Given the description of an element on the screen output the (x, y) to click on. 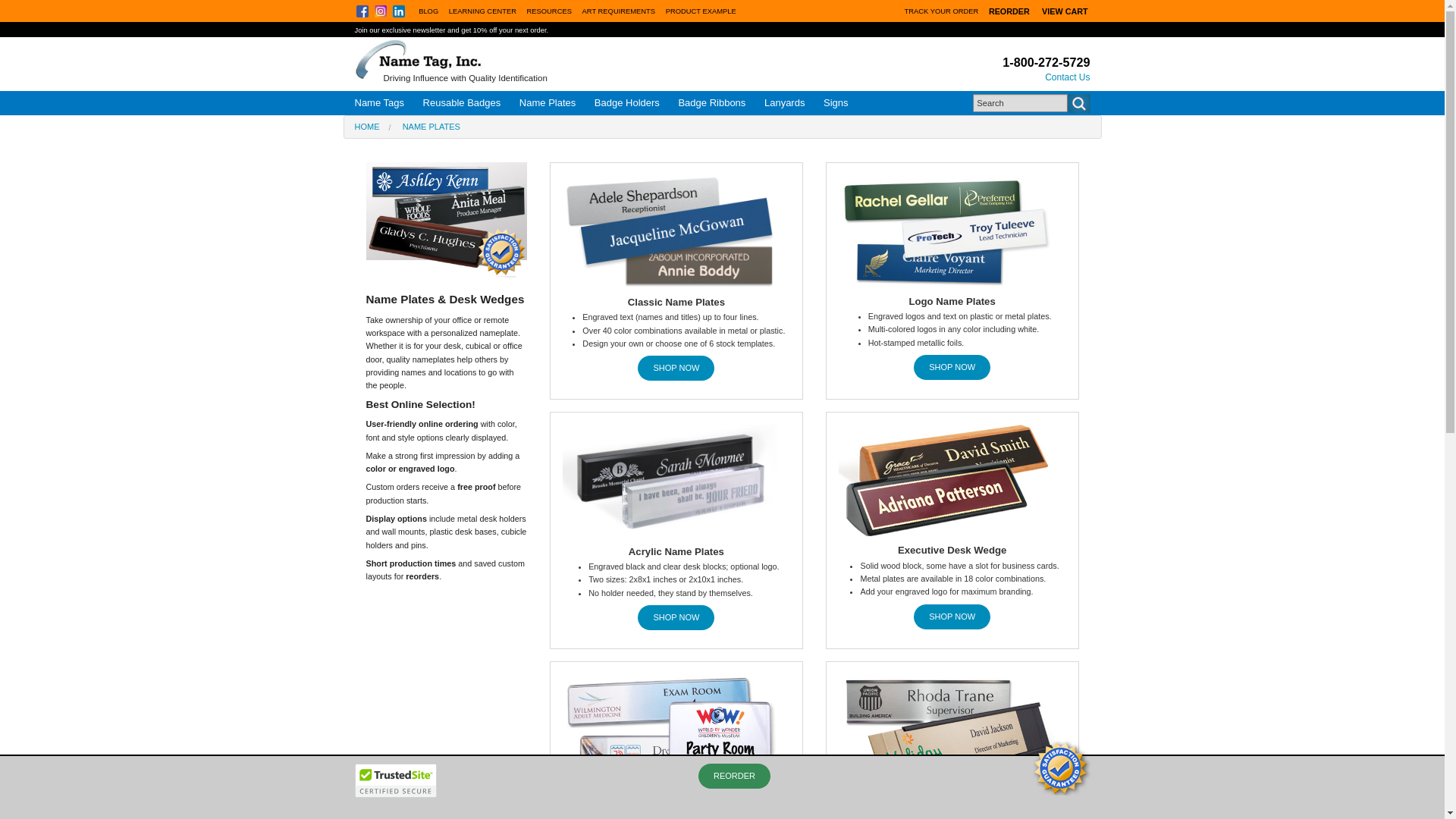
Fasteners (376, 273)
Contact Us (1067, 77)
Clear Badges (460, 200)
Dry Erase Badges (460, 248)
Logo Name Tags (376, 151)
Chalkboard Badges (460, 224)
REORDER (1008, 11)
BLOG (428, 10)
Logo Only Badges (460, 273)
ART REQUIREMENTS (619, 10)
Speedy Badges (460, 175)
1-800-272-5729 (1046, 61)
